Given the description of an element on the screen output the (x, y) to click on. 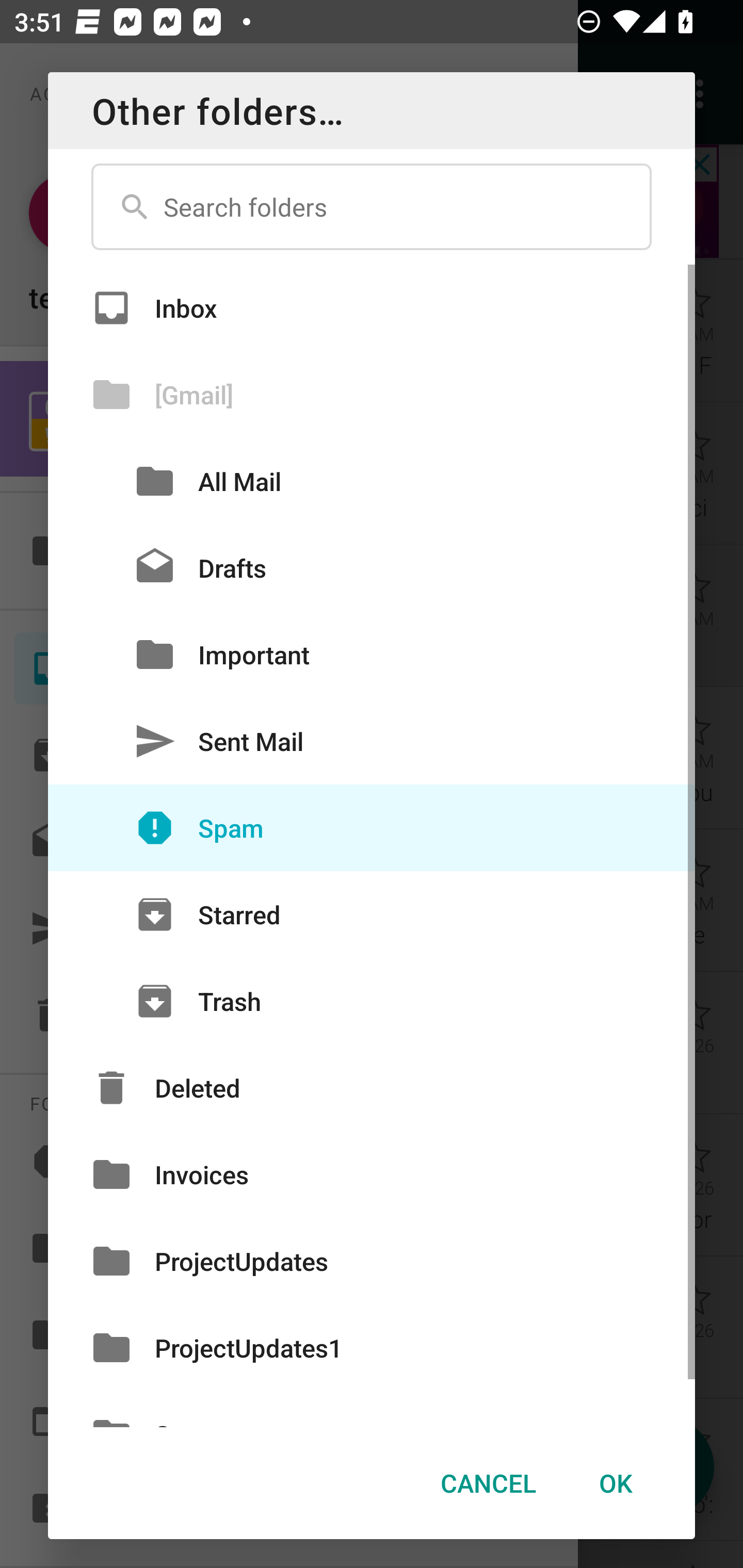
Inbox (371, 307)
All Mail (371, 481)
Drafts (371, 568)
Important (371, 654)
Sent Mail (371, 740)
Spam (371, 827)
Starred (371, 914)
Trash (371, 1001)
Deleted (371, 1087)
Invoices (371, 1174)
ProjectUpdates (371, 1261)
ProjectUpdates1 (371, 1347)
CANCEL (488, 1482)
OK (615, 1482)
